Given the description of an element on the screen output the (x, y) to click on. 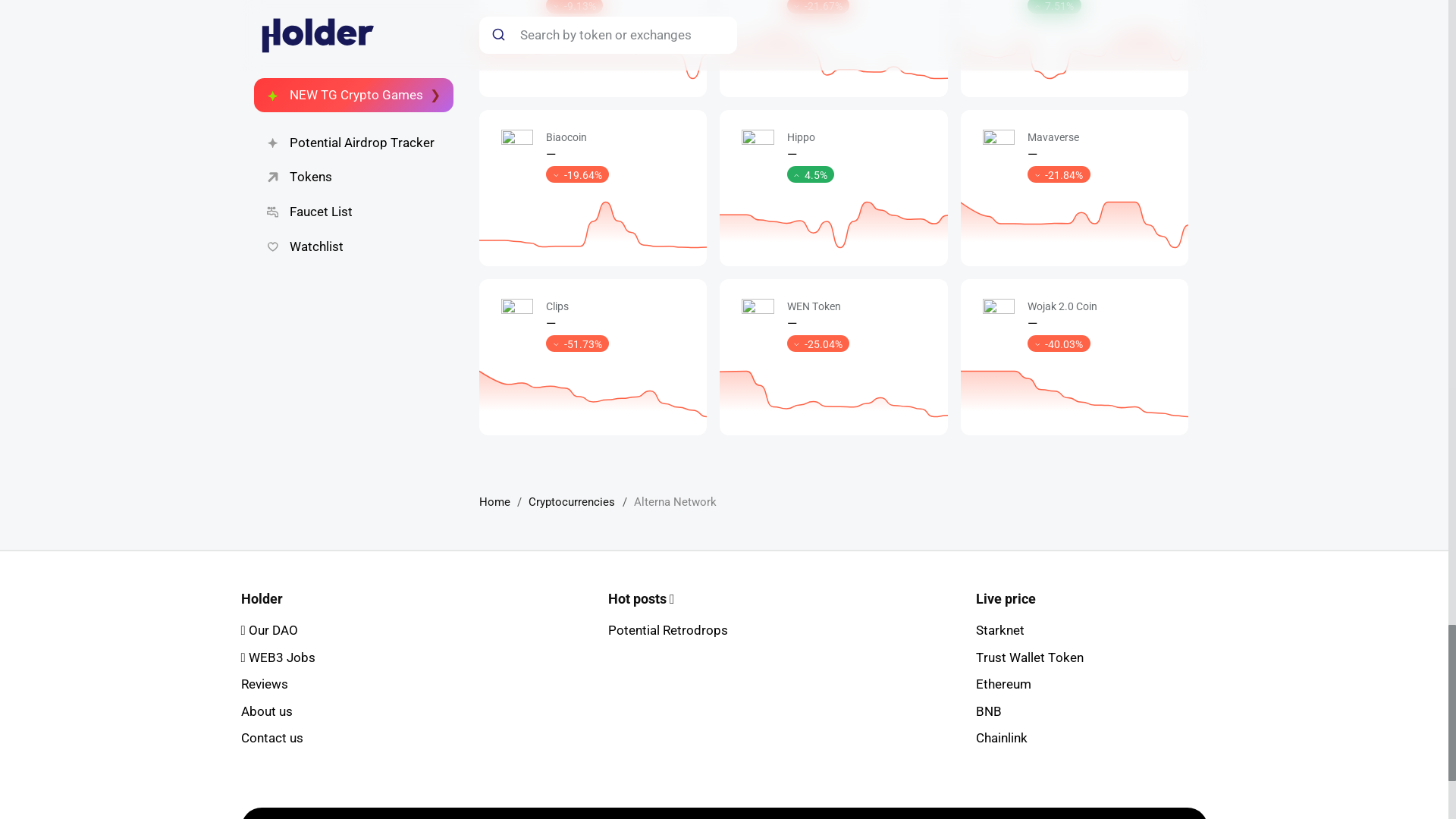
Cryptocurrencies (571, 501)
Home (495, 501)
Reviews (264, 683)
